Given the description of an element on the screen output the (x, y) to click on. 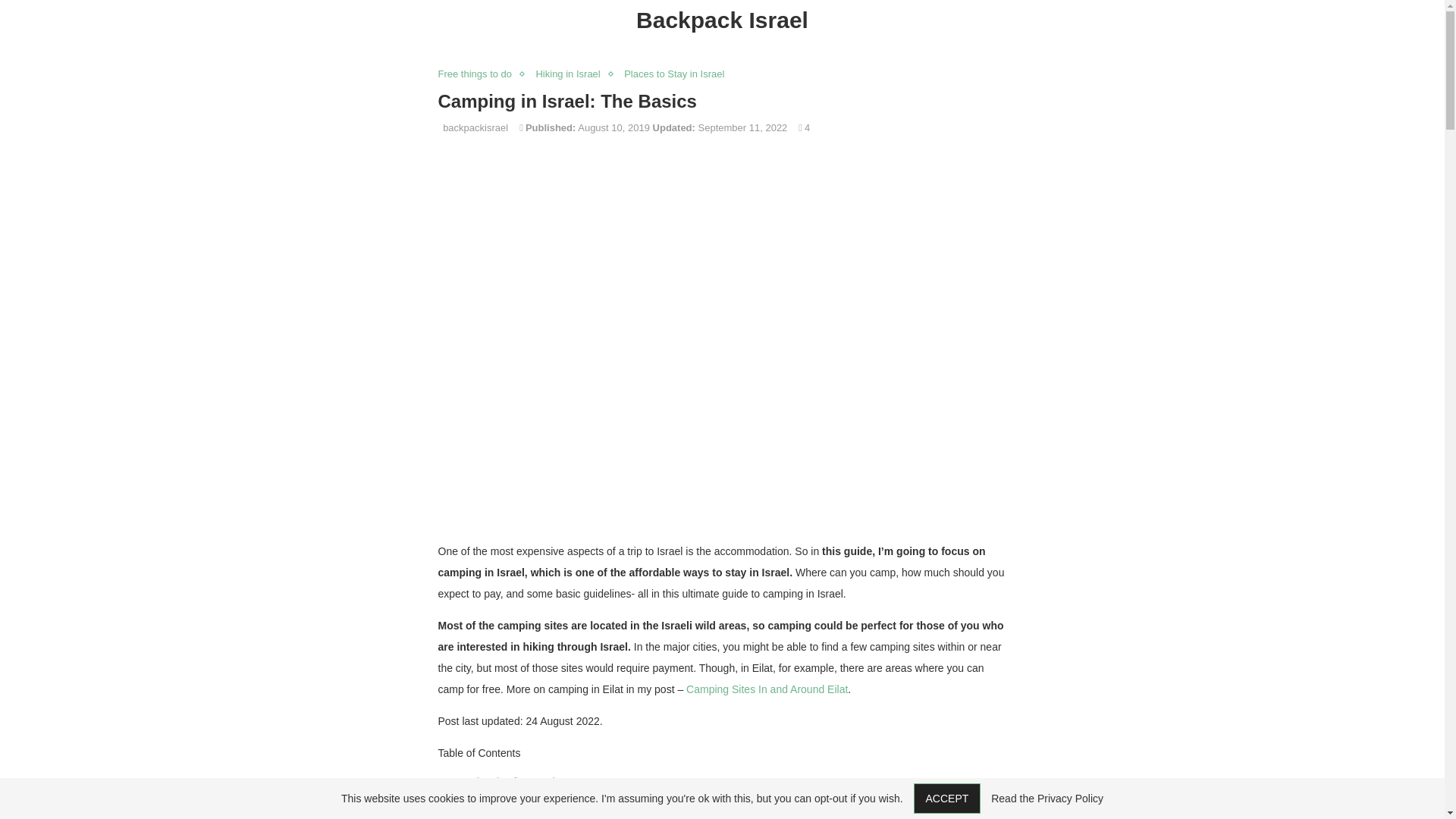
Basic guidelines for camping in free camping sites (577, 813)
Free things to do (478, 73)
Published: August 10, 2019 Updated: September 11, 2022 (656, 127)
4 (803, 127)
Free camping sites in Israel (513, 797)
Camping tips for Israel (501, 781)
Free camping sites in Israel (513, 797)
Places to Stay in Israel (678, 73)
Hiking in Israel (571, 73)
Camping tips for Israel (501, 781)
Camping Sites In and Around Eilat (766, 689)
Basic guidelines for camping in free camping sites (577, 813)
